Given the description of an element on the screen output the (x, y) to click on. 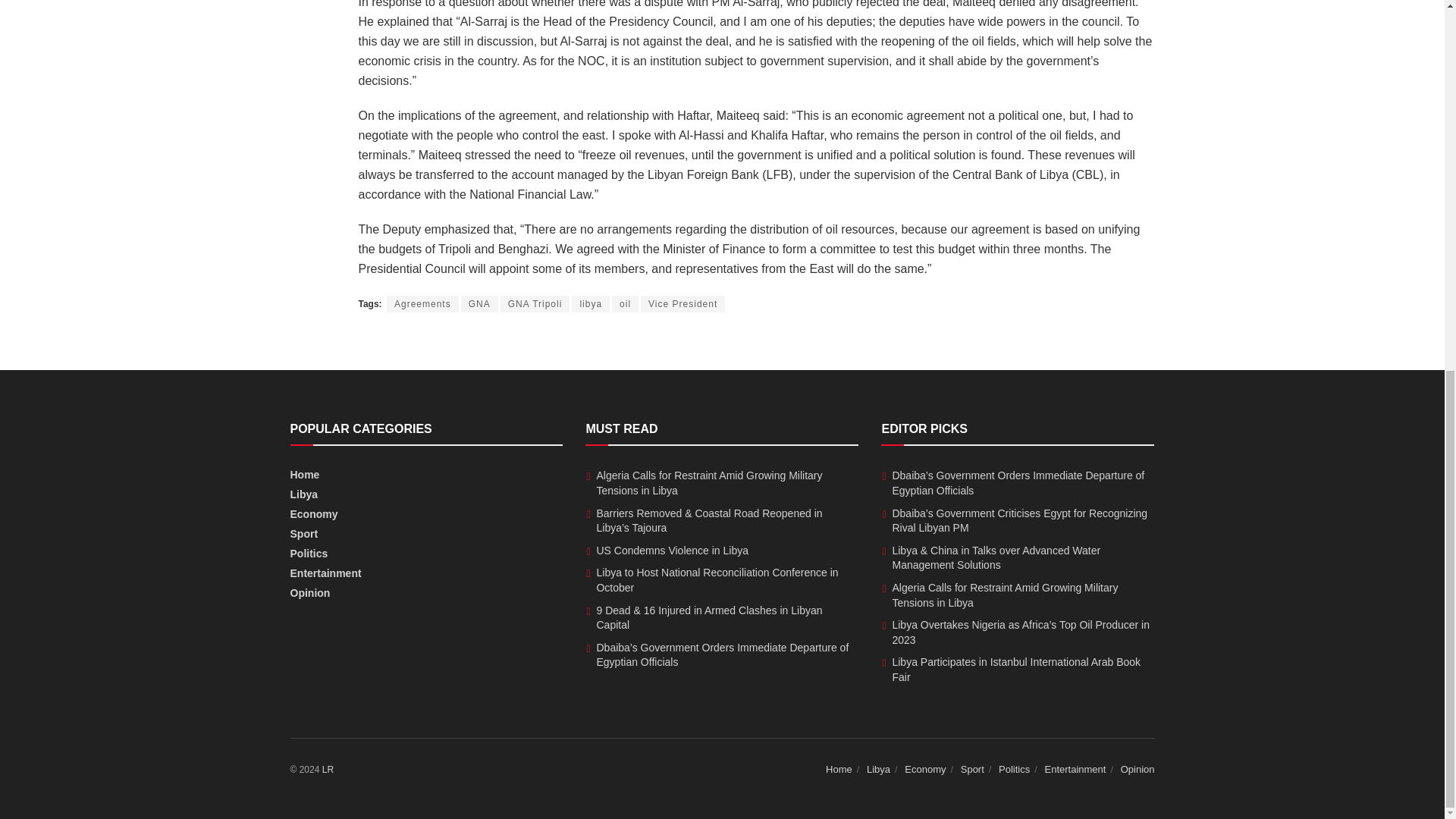
Agreements (422, 303)
GNA (479, 303)
libya (591, 303)
GNA Tripoli (535, 303)
Vice President (682, 303)
Libya Review (327, 769)
oil (625, 303)
